Given the description of an element on the screen output the (x, y) to click on. 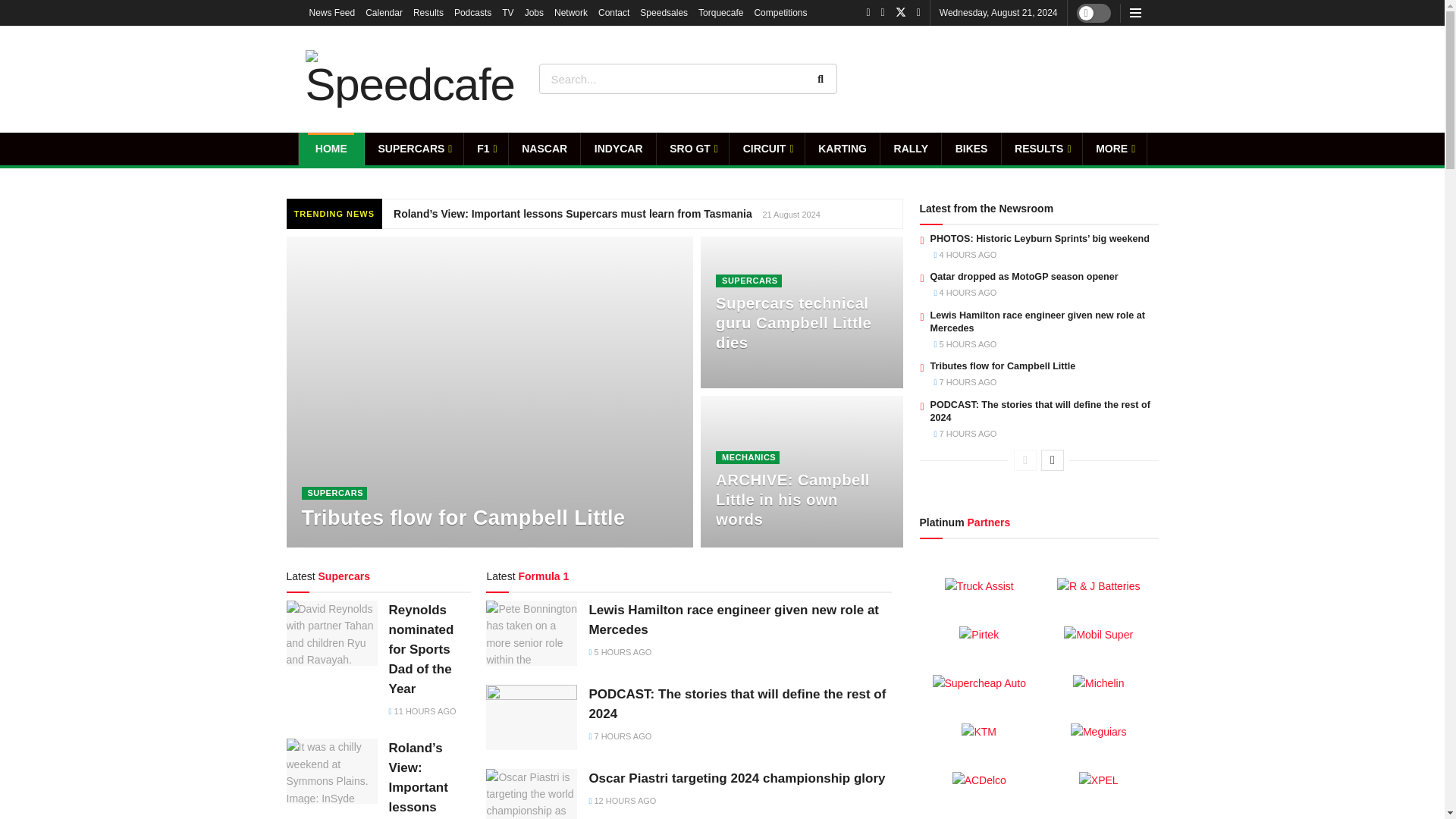
Speedsales (663, 12)
ACDelco (979, 780)
NASCAR (544, 148)
Calendar (384, 12)
F1 (486, 148)
Mobil Super (1098, 634)
Truck Assist (978, 586)
Contact (613, 12)
INDYCAR (617, 148)
XPEL (1098, 780)
